Given the description of an element on the screen output the (x, y) to click on. 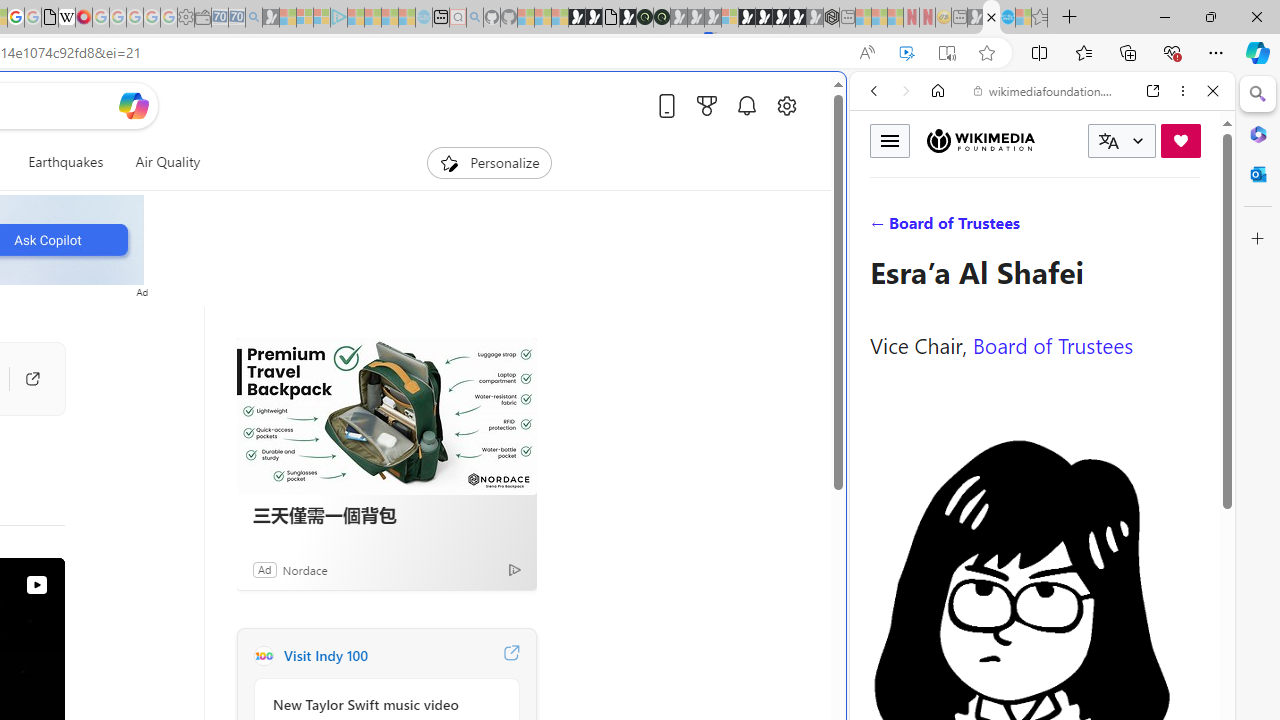
Play Cave FRVR in your browser | Games from Microsoft Start (343, 426)
Tabs you've opened (276, 265)
Wikimedia Foundation (980, 141)
SEARCH TOOLS (1093, 228)
Close split screen (844, 102)
